Given the description of an element on the screen output the (x, y) to click on. 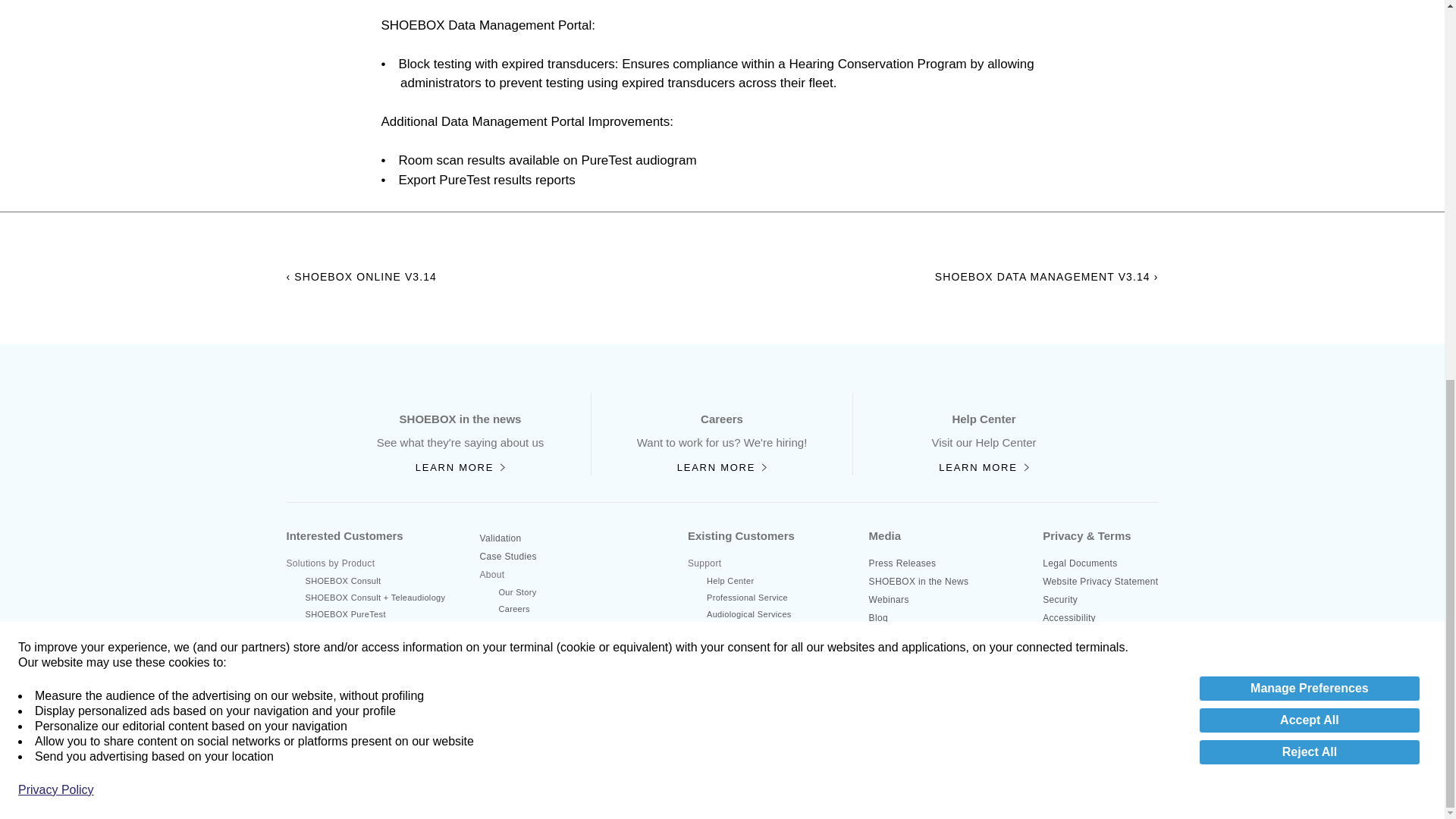
Privacy Policy (55, 85)
Accept All (1309, 15)
Reject All (1309, 47)
